Given the description of an element on the screen output the (x, y) to click on. 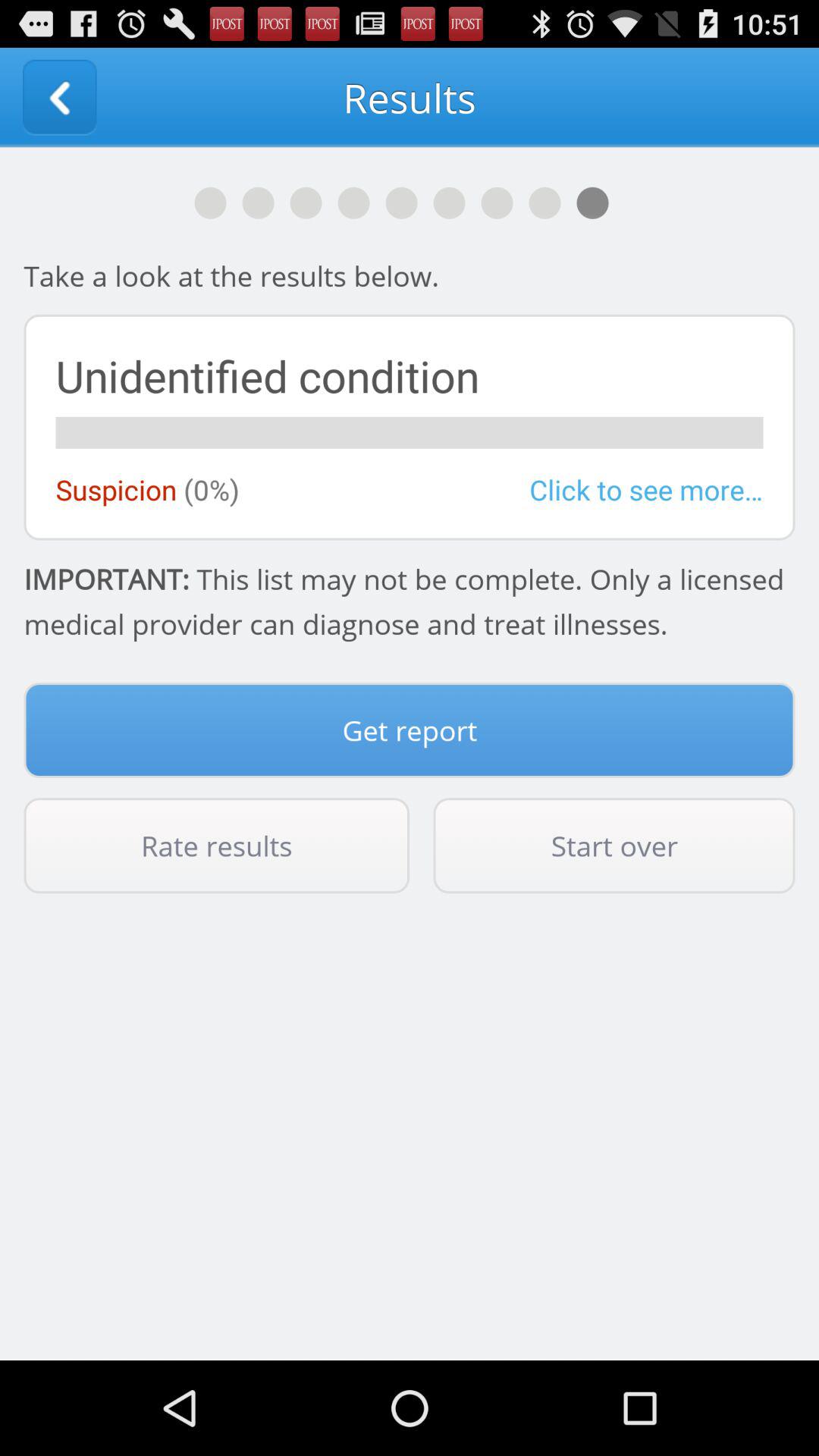
open item to the left of the results item (59, 97)
